Given the description of an element on the screen output the (x, y) to click on. 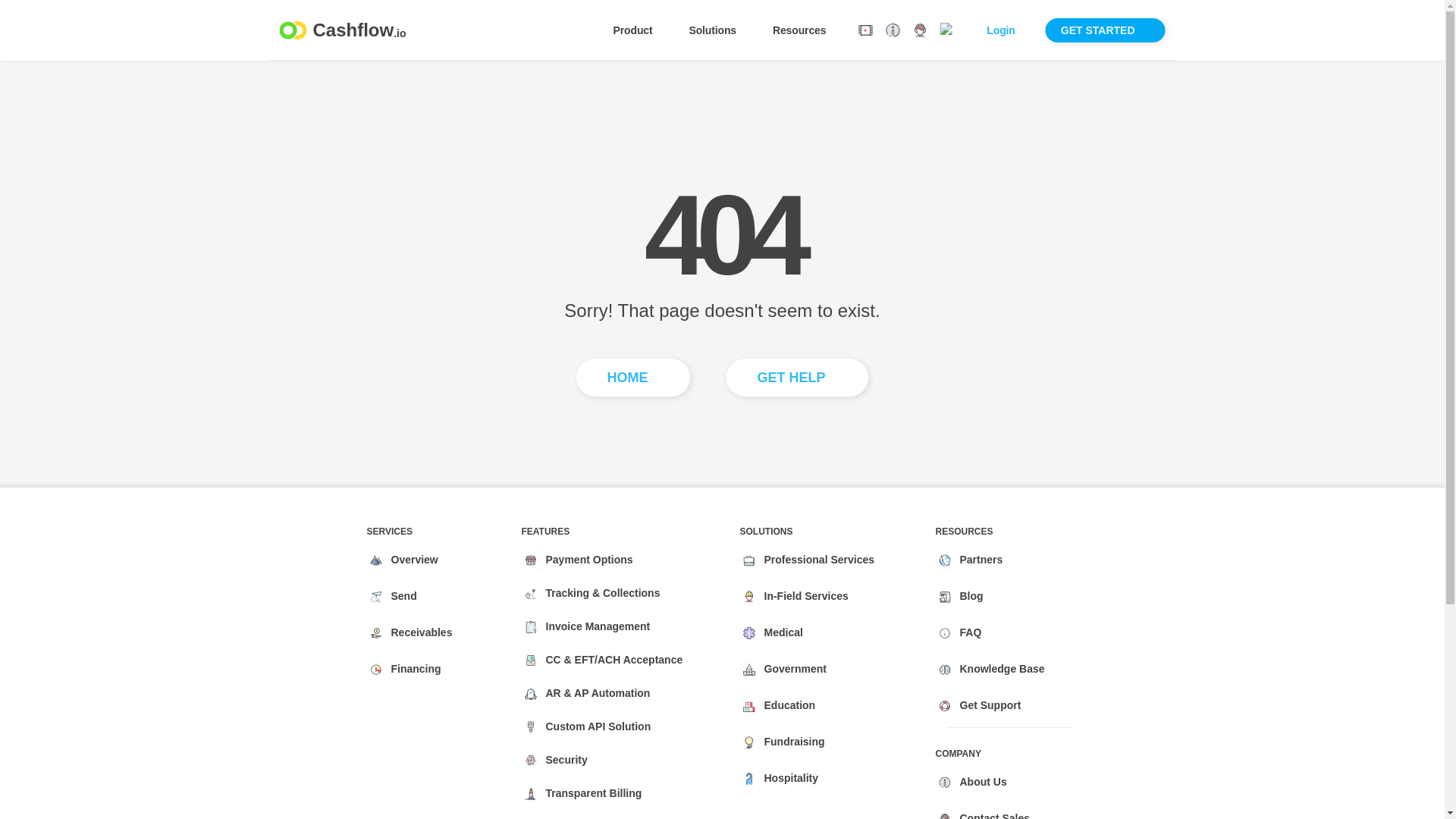
GET HELP (946, 30)
Knowledge Base (796, 377)
Partners (1002, 669)
About Us (978, 560)
Get Support (980, 782)
Send (990, 706)
Login (401, 596)
GET STARTED (1007, 30)
Receivables (1105, 30)
Financing (419, 633)
Product (413, 669)
Overview (640, 30)
Contact Sales (412, 560)
